Given the description of an element on the screen output the (x, y) to click on. 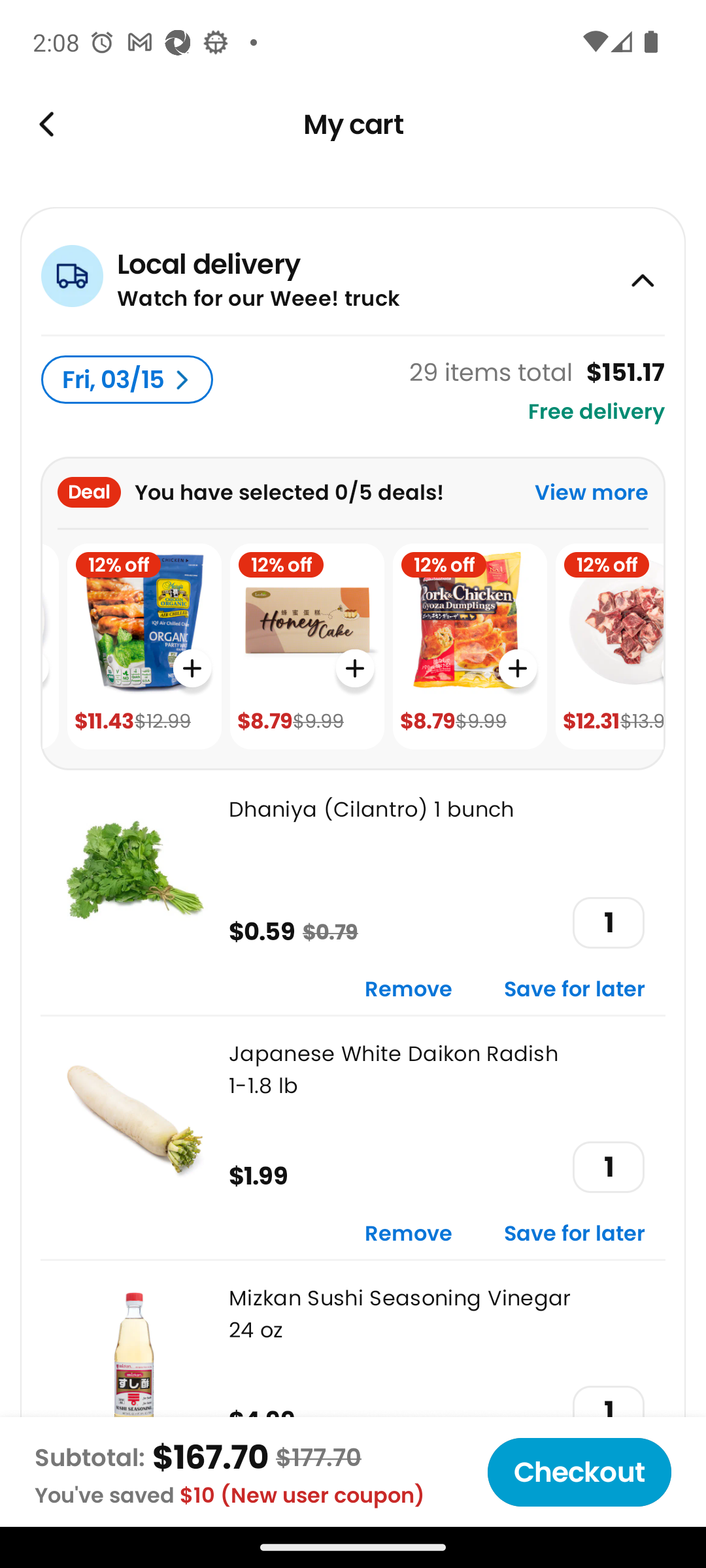
Local delivery Watch for our Weee! truck (352, 269)
Fri, 03/15 (126, 379)
12% off $11.43 $12.99 (144, 646)
12% off $8.79 $9.99 (307, 646)
12% off $8.79 $9.99 (469, 646)
12% off $12.31 $13.99 (609, 646)
1 (608, 922)
Remove (408, 989)
Save for later (574, 989)
1 (608, 1167)
Remove (408, 1234)
Save for later (574, 1234)
Checkout (579, 1471)
